Given the description of an element on the screen output the (x, y) to click on. 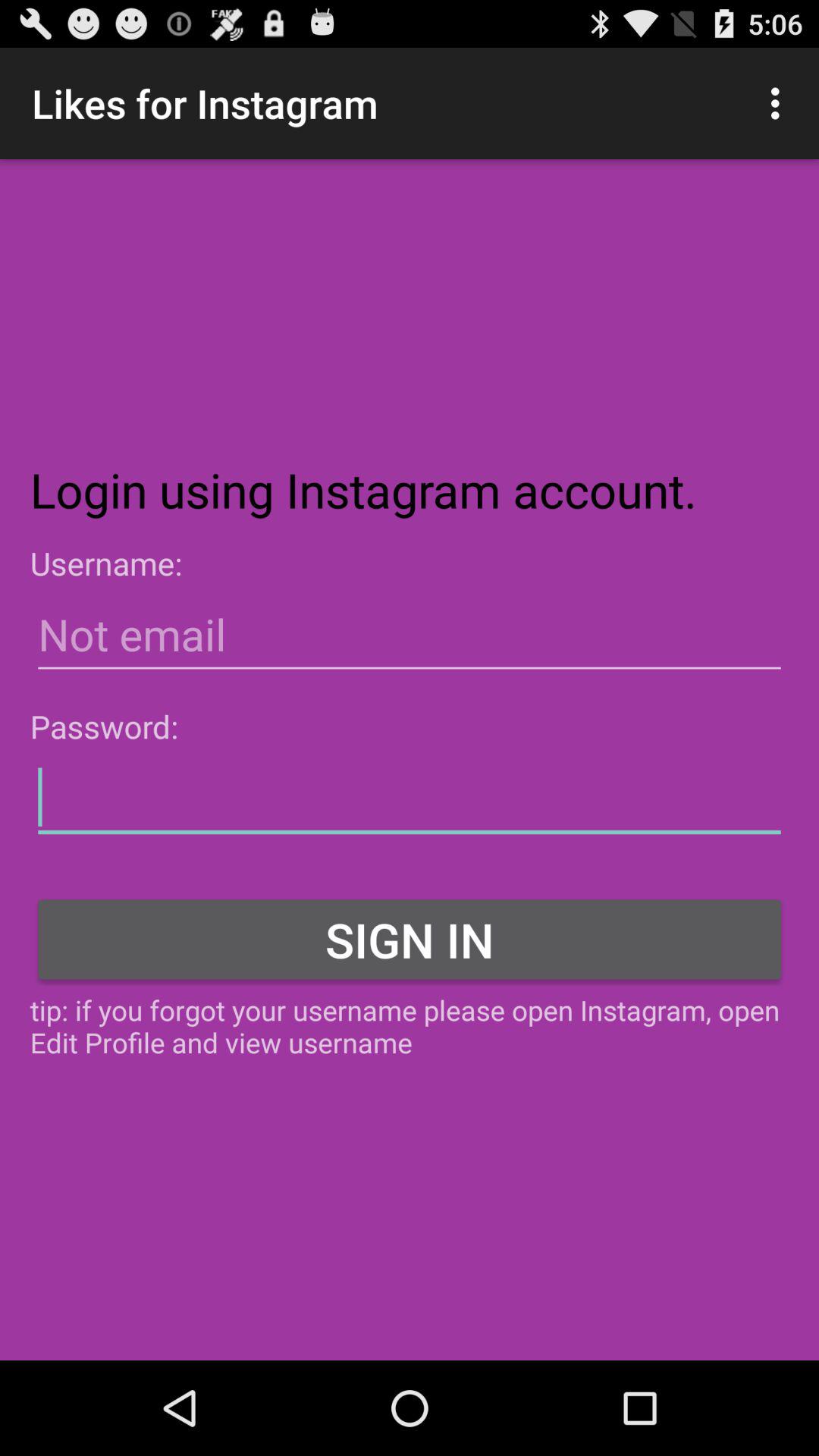
open the sign in (409, 939)
